Given the description of an element on the screen output the (x, y) to click on. 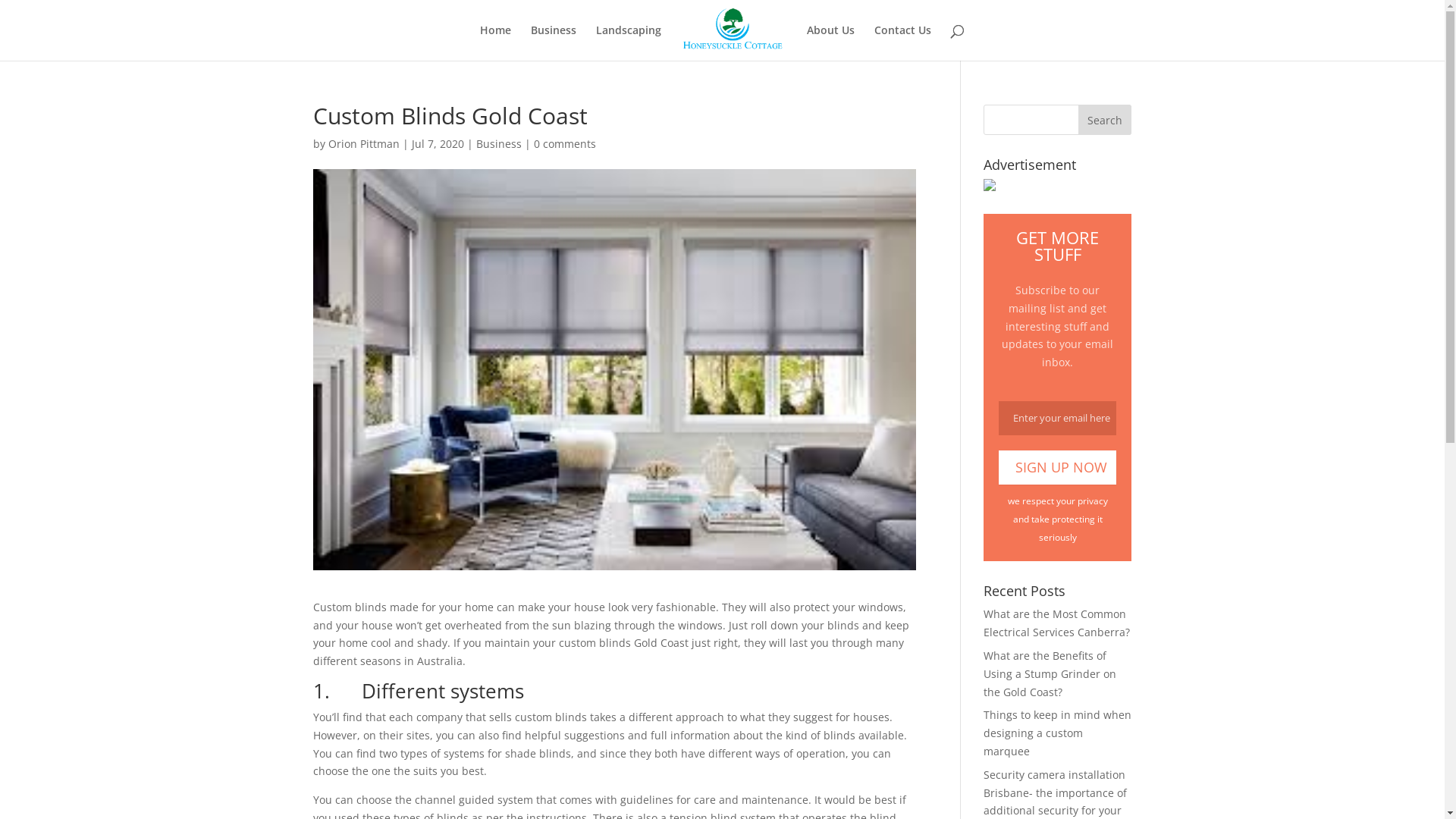
Sign Up Now Element type: text (1057, 467)
Home Element type: text (495, 42)
Business Element type: text (553, 42)
Business Element type: text (498, 143)
Things to keep in mind when designing a custom marquee Element type: text (1057, 732)
0 comments Element type: text (564, 143)
Search Element type: text (1104, 119)
About Us Element type: text (830, 42)
What are the Most Common Electrical Services Canberra? Element type: text (1056, 622)
Orion Pittman Element type: text (362, 143)
Landscaping Element type: text (628, 42)
Contact Us Element type: text (902, 42)
